Given the description of an element on the screen output the (x, y) to click on. 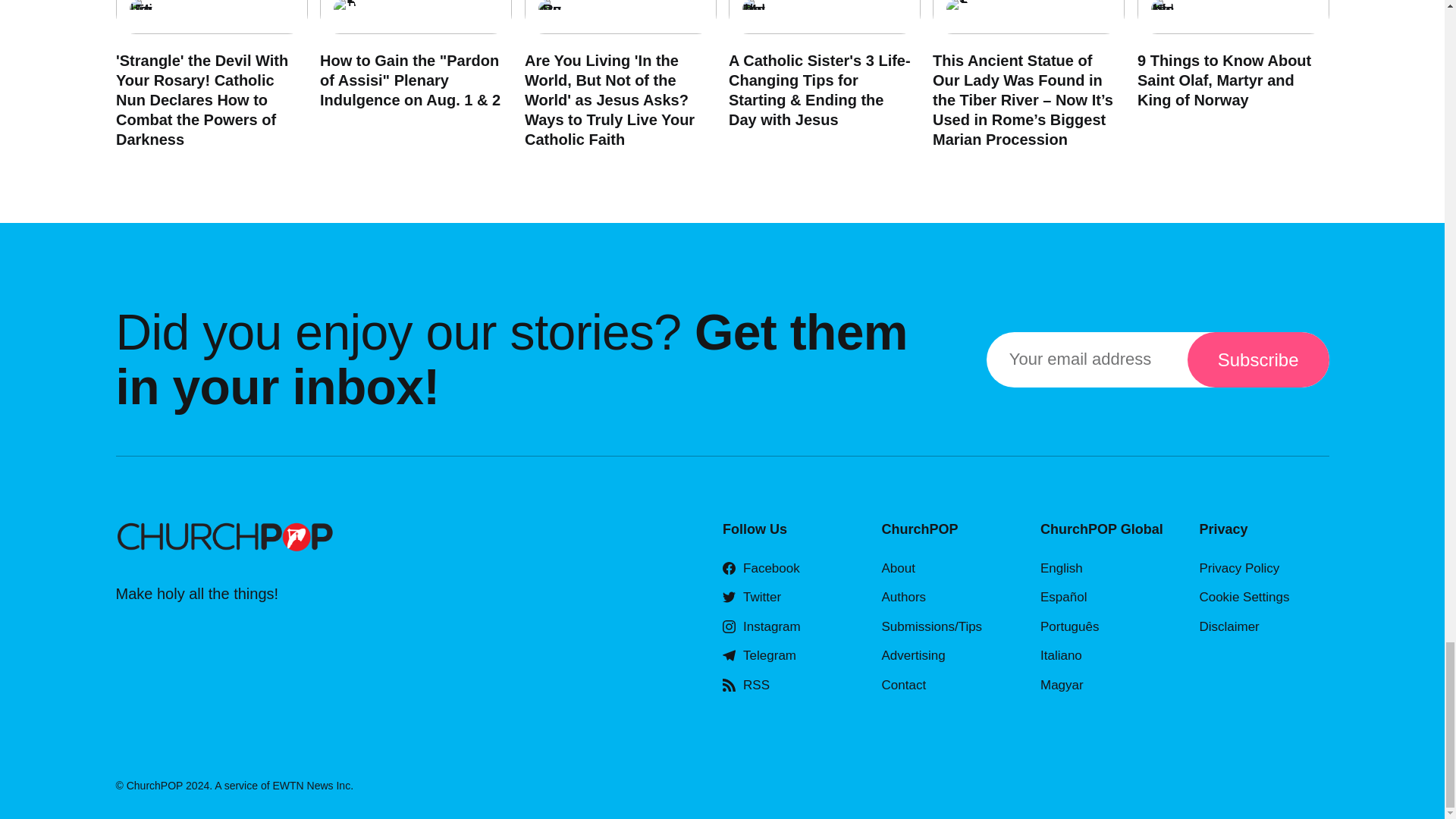
Author: Jacqueline Burkepile (344, 10)
Author: Jacob Stein (957, 10)
Author: George Ryan (548, 10)
Author: Madeline Daley (752, 10)
Author: Migi Fabara (140, 10)
Author: Nicholas Scotchie (1161, 10)
